Given the description of an element on the screen output the (x, y) to click on. 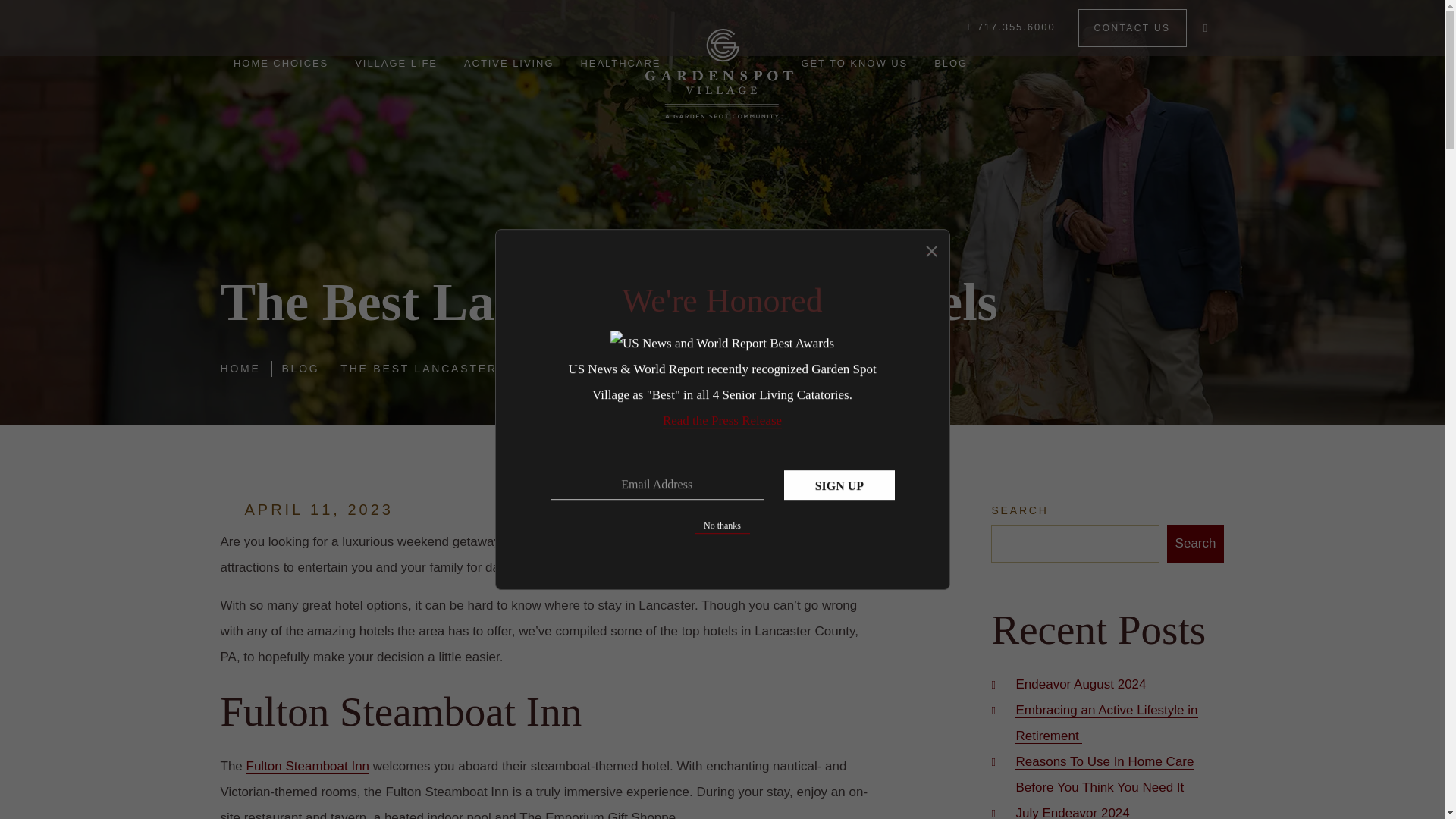
SIGN UP (838, 485)
HOME CHOICES (279, 63)
VILLAGE LIFE (396, 63)
Close (930, 246)
 717.355.6000 (1011, 26)
SIGN UP (838, 485)
HEALTHCARE (620, 63)
ACTIVE LIVING (508, 63)
CONTACT US (1132, 27)
